Given the description of an element on the screen output the (x, y) to click on. 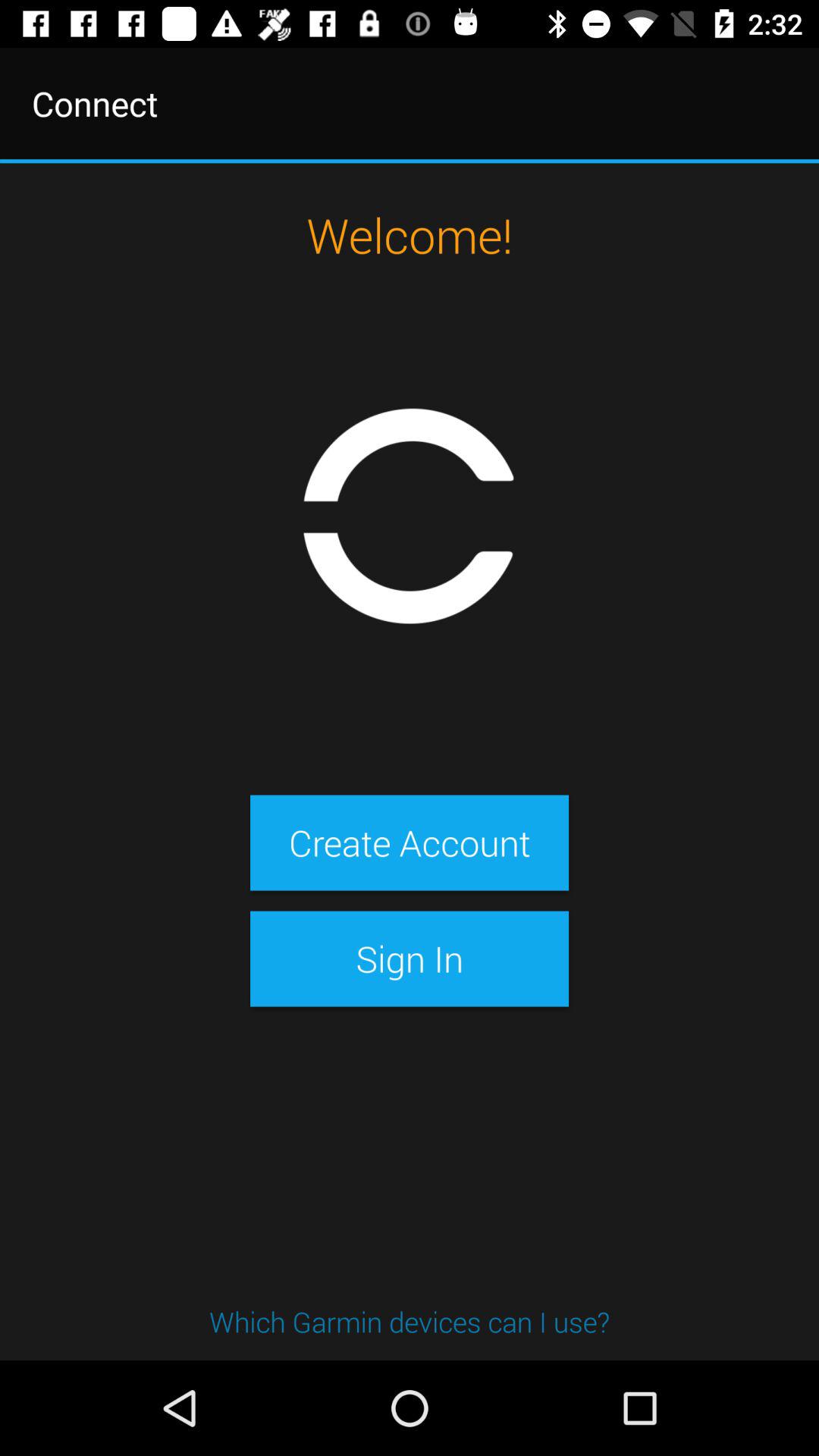
swipe until which garmin devices (409, 1321)
